Given the description of an element on the screen output the (x, y) to click on. 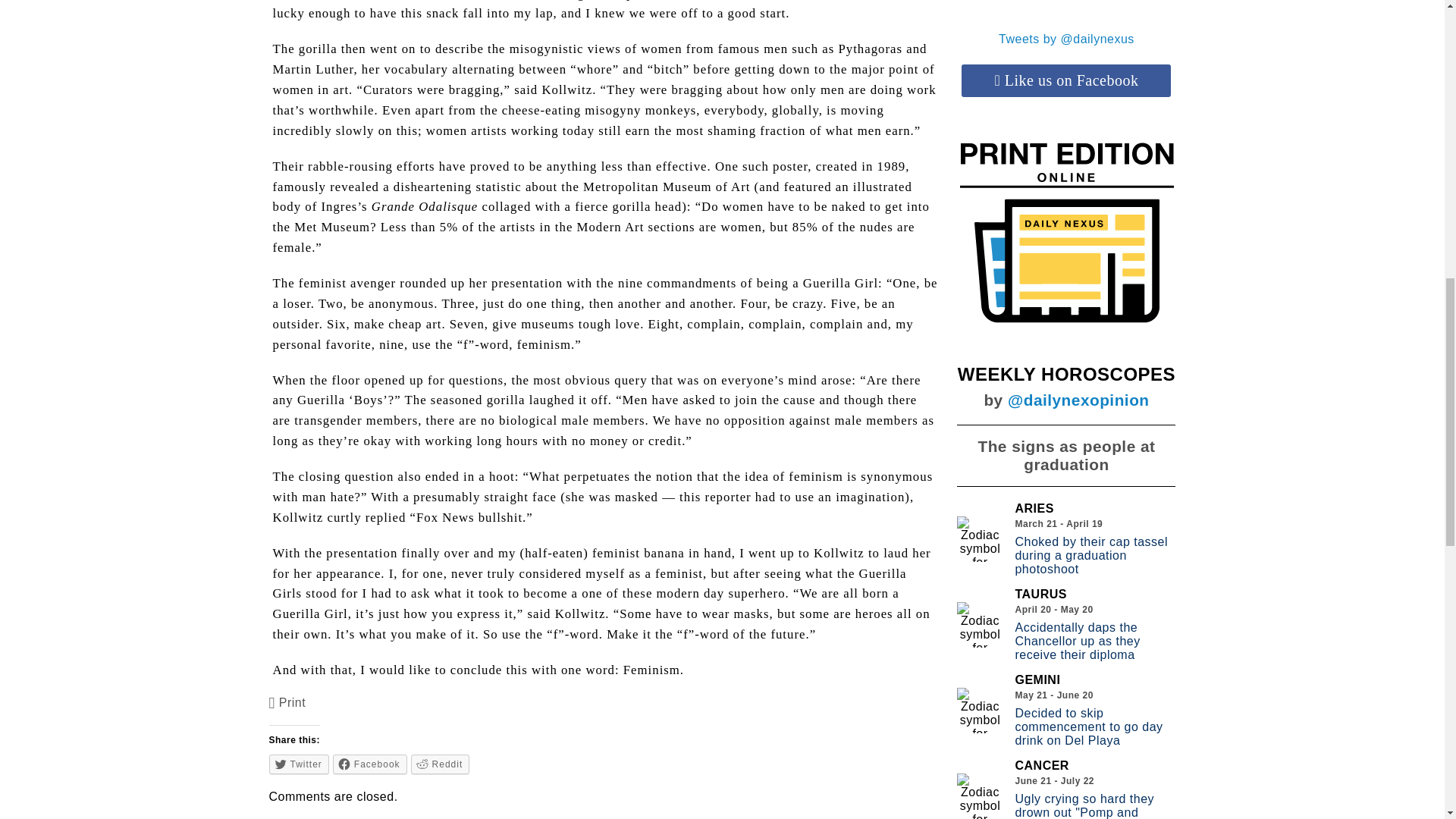
Click to share on Reddit (440, 763)
Click to share on Facebook (370, 763)
Click to share on Twitter (299, 763)
